Given the description of an element on the screen output the (x, y) to click on. 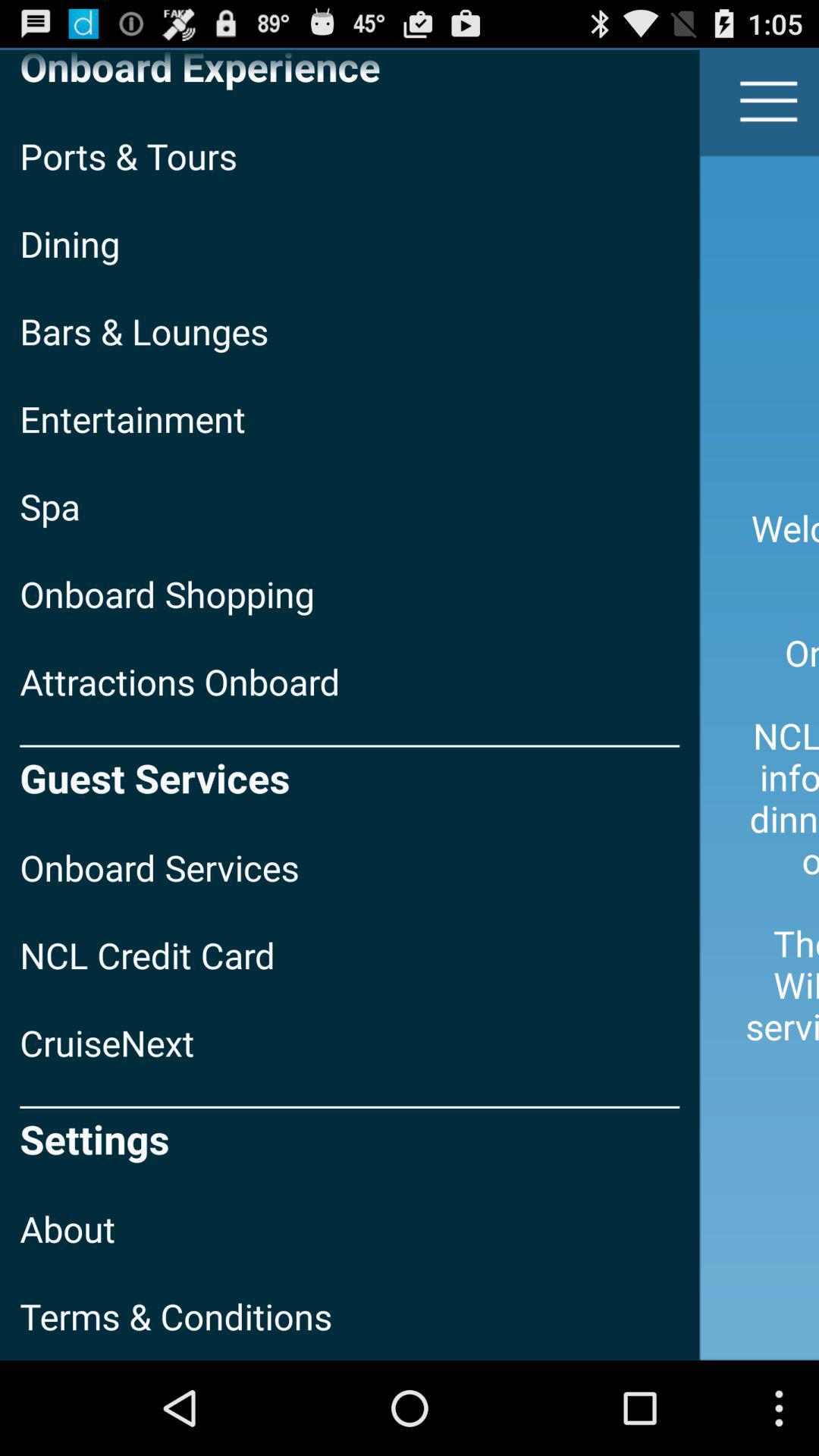
press app above the welcome to the item (769, 101)
